Given the description of an element on the screen output the (x, y) to click on. 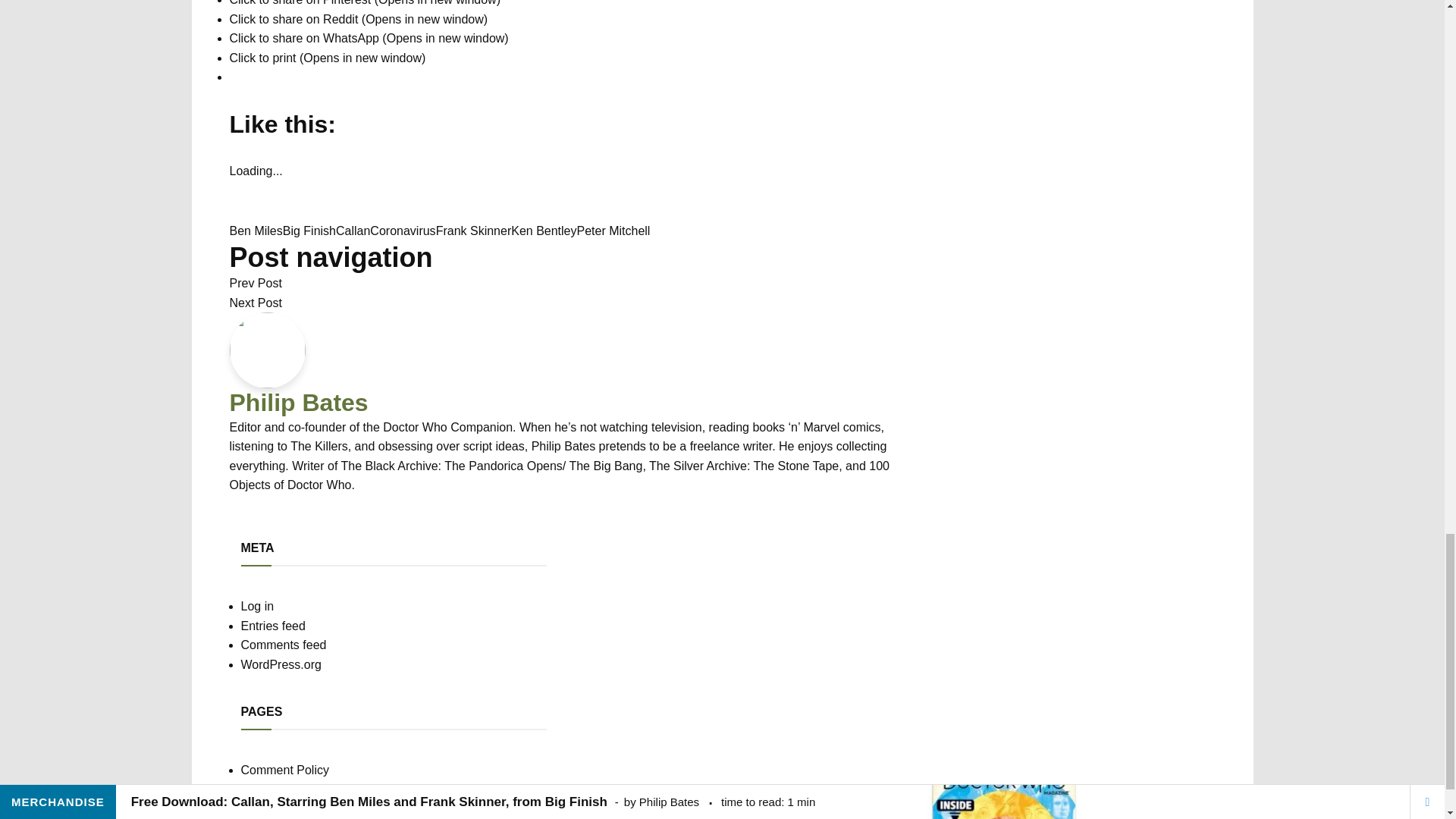
Click to share on Pinterest (364, 2)
Click to share on Reddit (357, 19)
Click to share on WhatsApp (368, 38)
Click to print (326, 57)
